Given the description of an element on the screen output the (x, y) to click on. 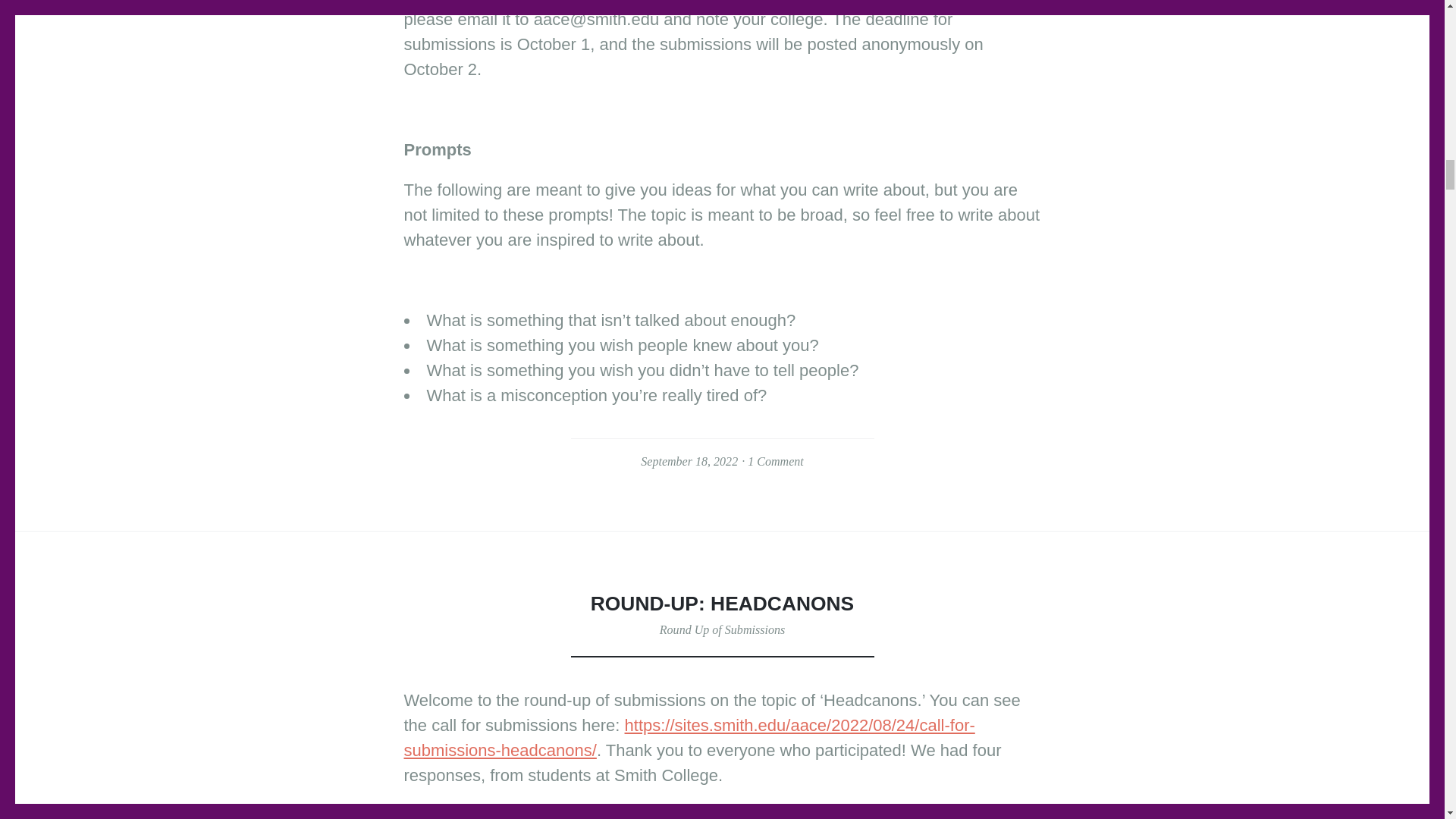
Round Up of Submissions (721, 629)
ROUND-UP: HEADCANONS (722, 603)
1 Comment (775, 461)
September 18, 2022 (689, 461)
